Given the description of an element on the screen output the (x, y) to click on. 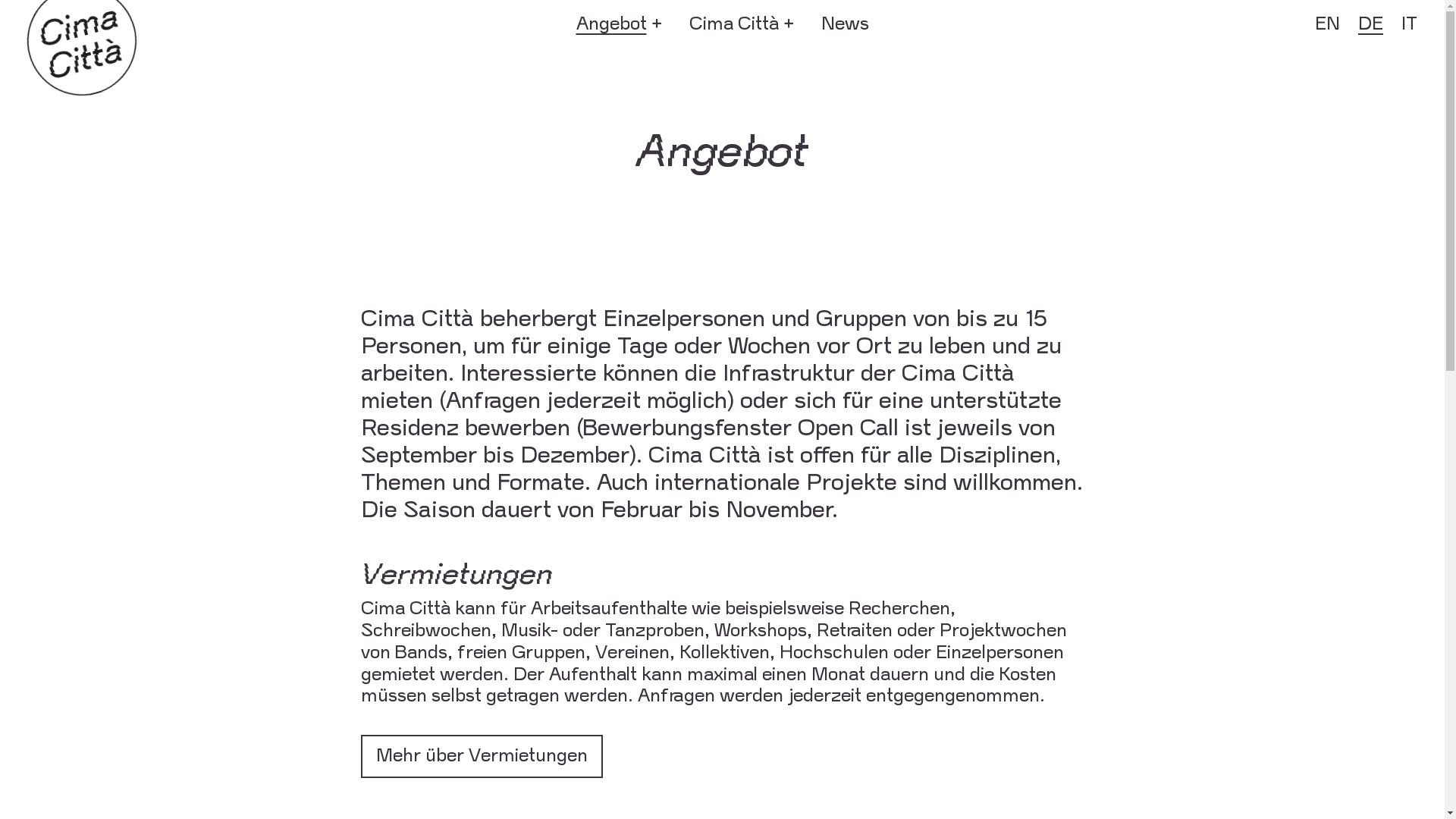
EN Element type: text (1326, 24)
DE Element type: text (1370, 24)
IT Element type: text (1409, 24)
Angebot Element type: text (611, 24)
News Element type: text (844, 24)
Skip to main content Element type: text (0, 0)
